Given the description of an element on the screen output the (x, y) to click on. 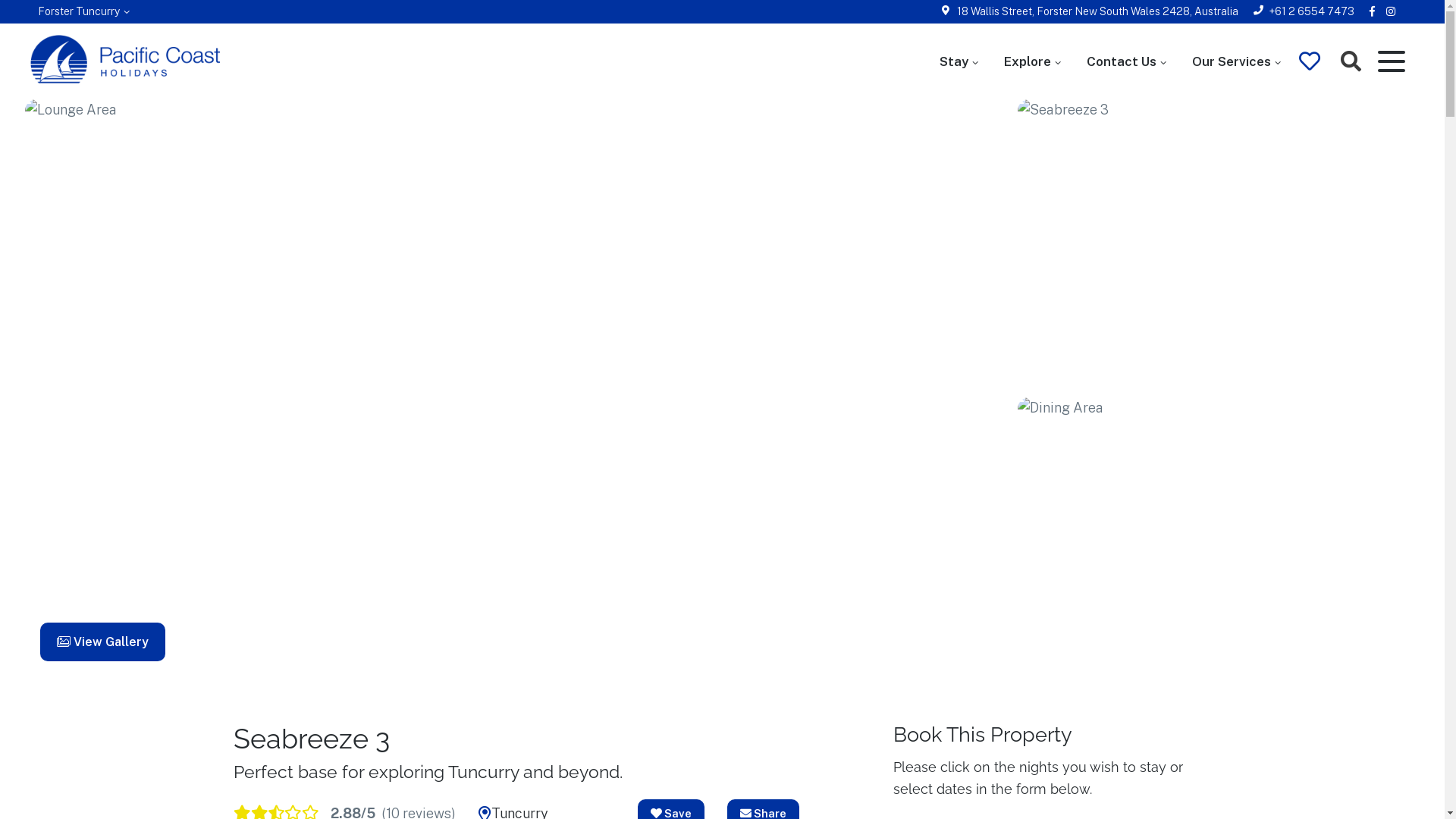
View Gallery Element type: text (101, 641)
Explore Element type: text (1032, 60)
Our Services Element type: text (1236, 60)
Stay Element type: text (958, 60)
Forster Tuncurry Element type: text (83, 11)
+61 2 6554 7473 Element type: text (1311, 11)
Contact Us Element type: text (1126, 60)
